Given the description of an element on the screen output the (x, y) to click on. 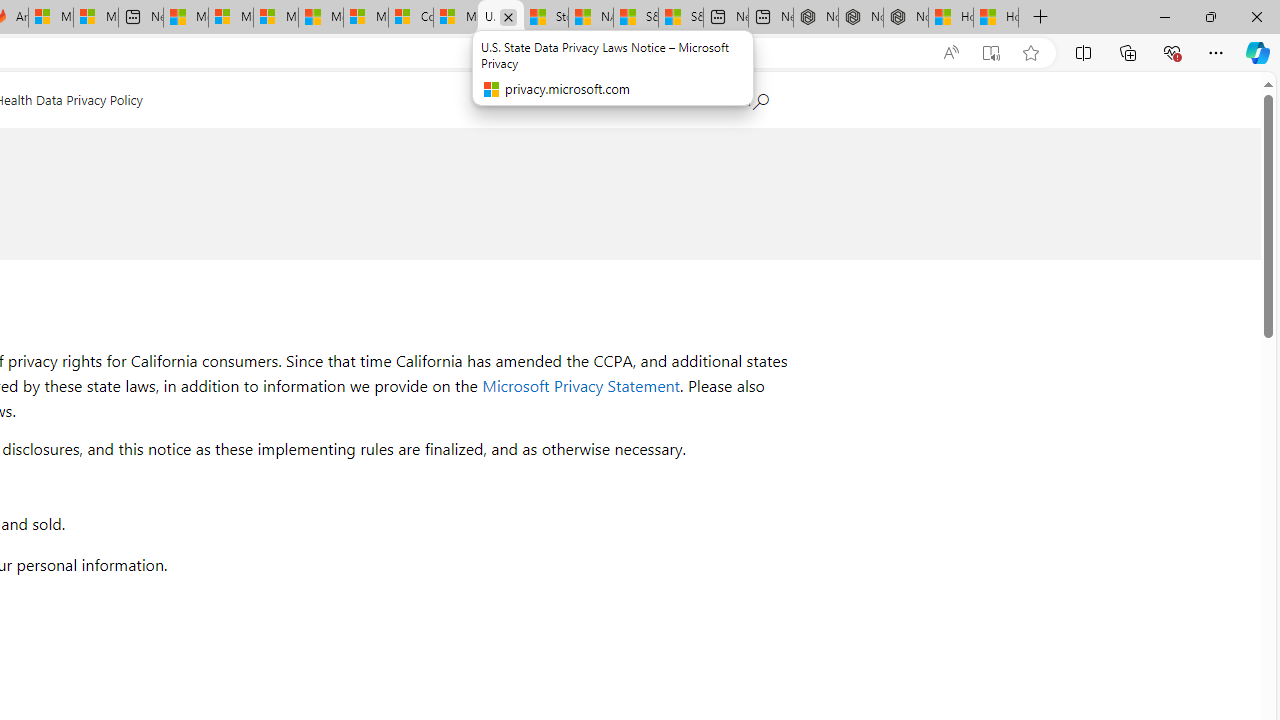
Microsoft Privacy Statement (581, 385)
Consumer Health Data Privacy Policy (410, 17)
